Given the description of an element on the screen output the (x, y) to click on. 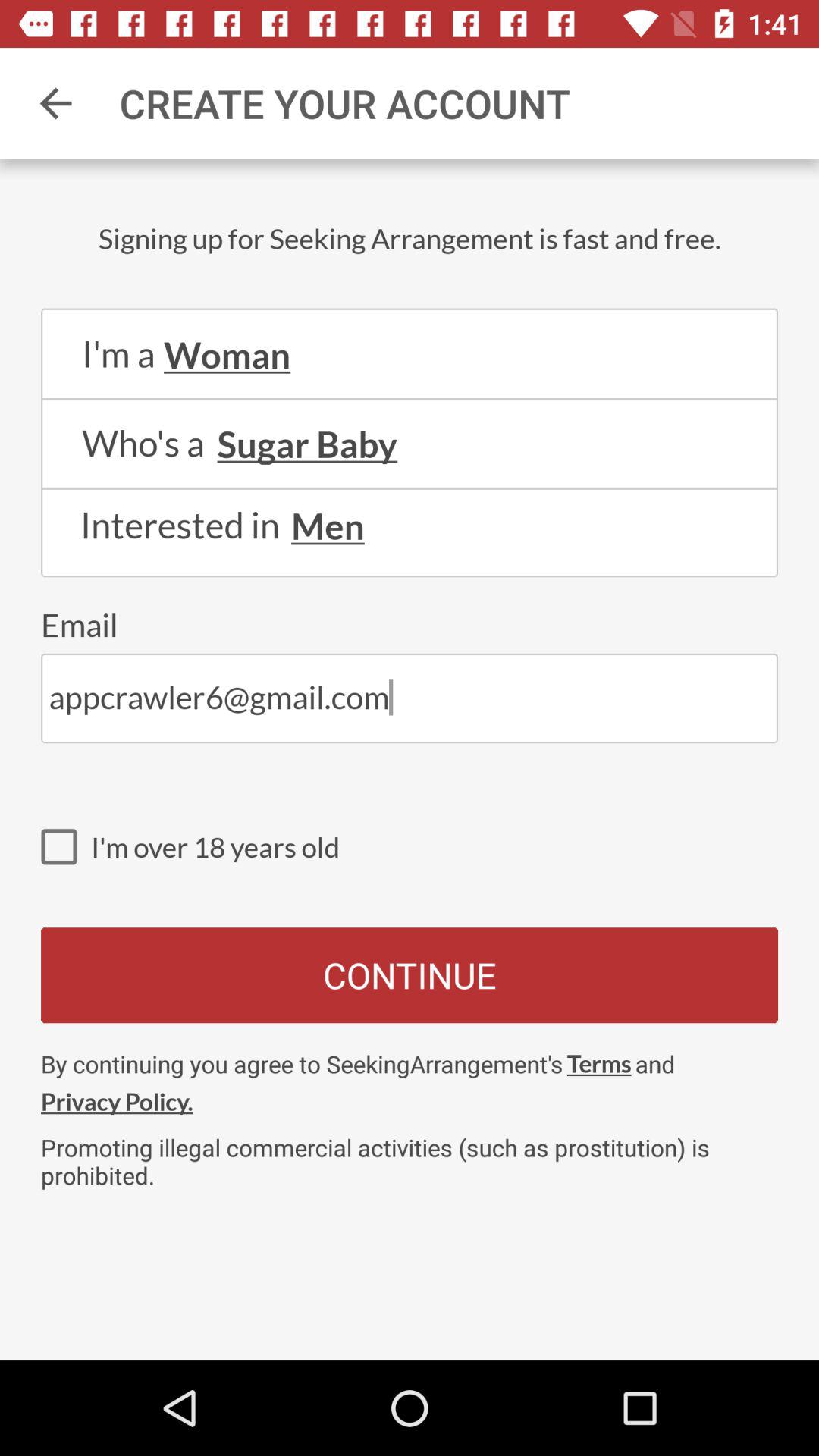
tap the item below the sugar baby (409, 488)
